Given the description of an element on the screen output the (x, y) to click on. 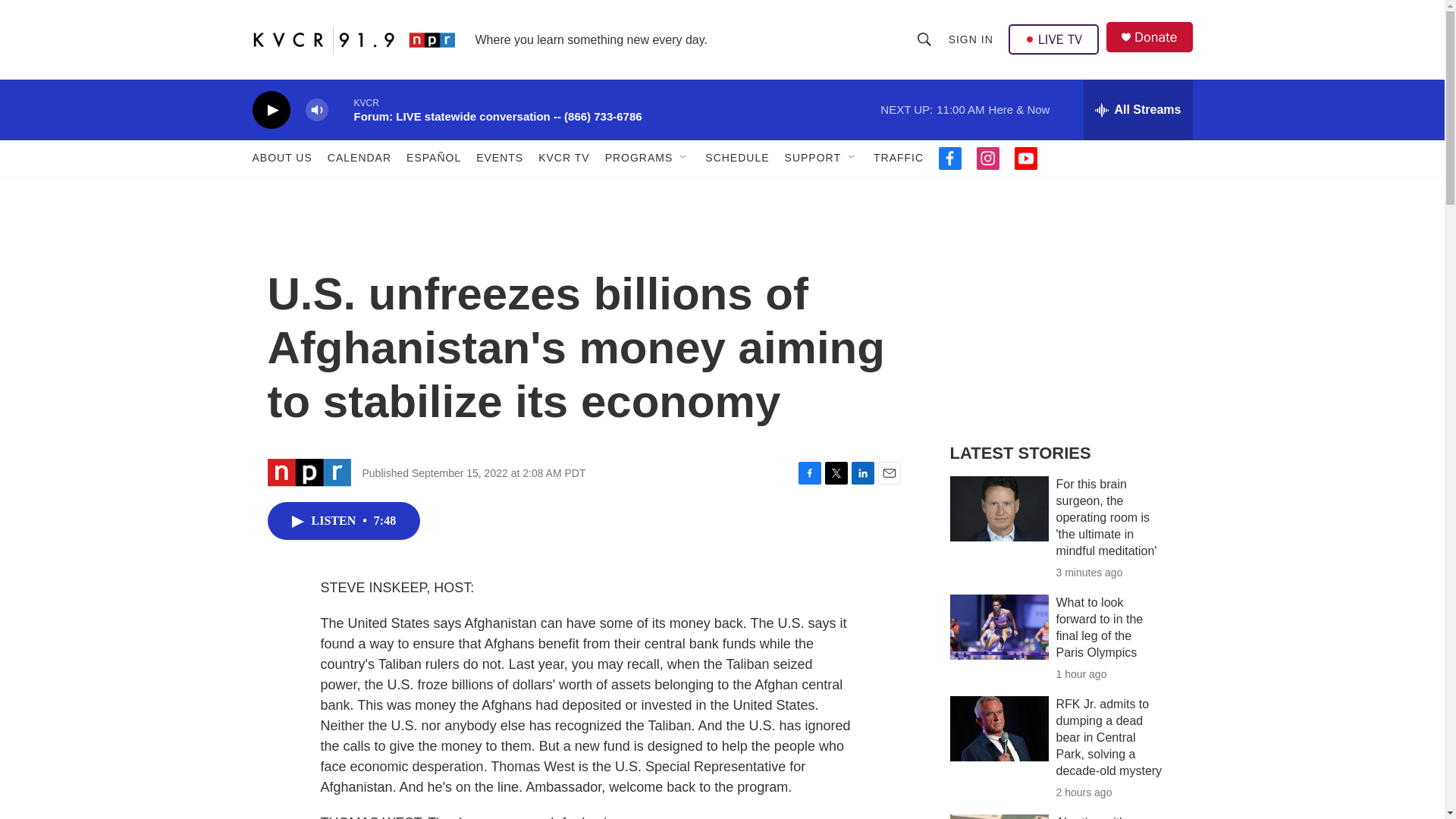
3rd party ad content (1062, 316)
